Given the description of an element on the screen output the (x, y) to click on. 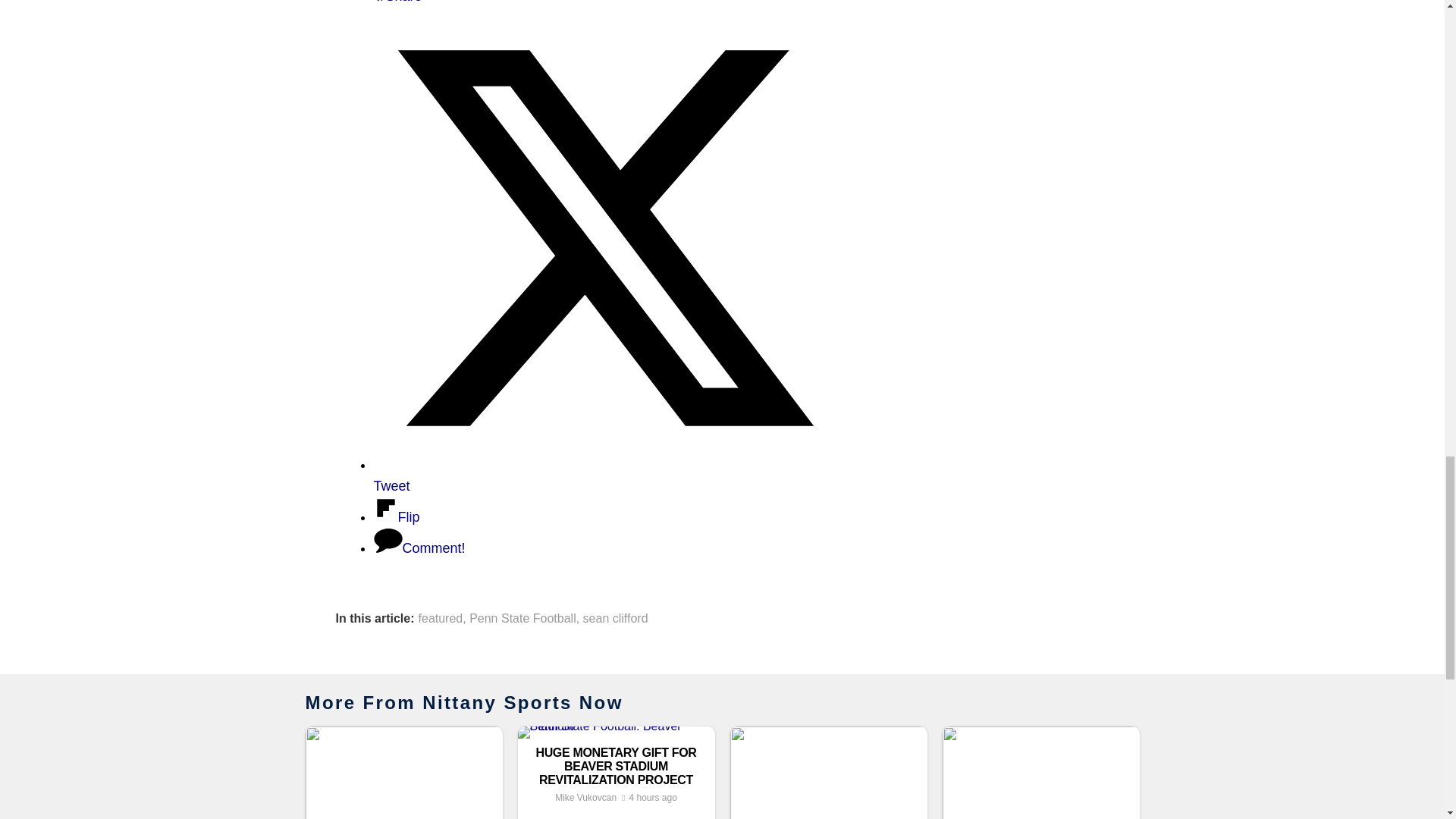
Share on Comment! (418, 548)
Share on Flip (395, 516)
Posts by Mike Vukovcan (584, 797)
Share on Share (397, 1)
Share on Tweet (603, 475)
